Given the description of an element on the screen output the (x, y) to click on. 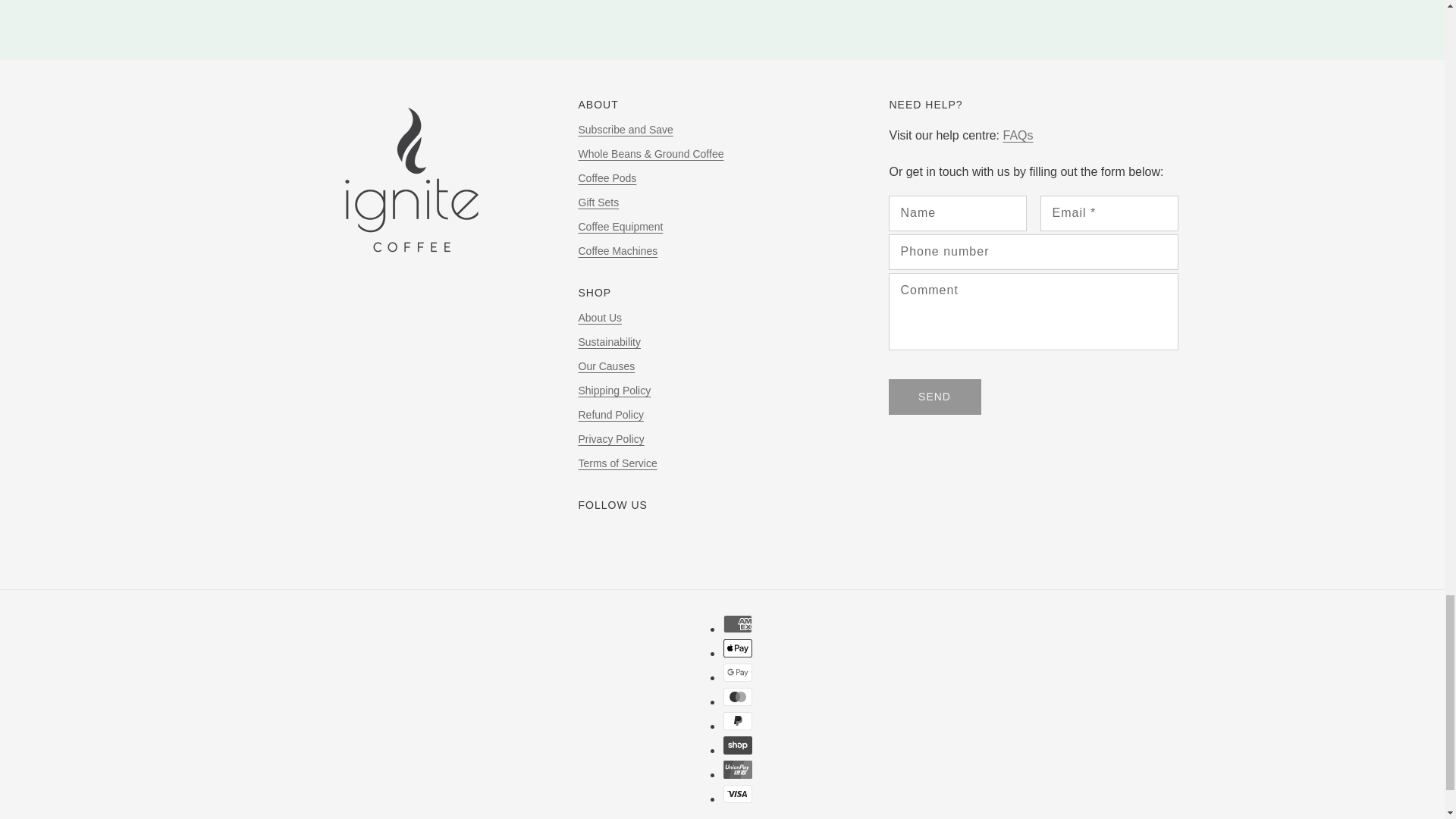
Apple Pay (737, 648)
American Express (737, 624)
FAQs (1018, 135)
Shop Pay (737, 745)
PayPal (737, 720)
Union Pay (737, 769)
Mastercard (737, 696)
Visa (737, 793)
Google Pay (737, 672)
